Given the description of an element on the screen output the (x, y) to click on. 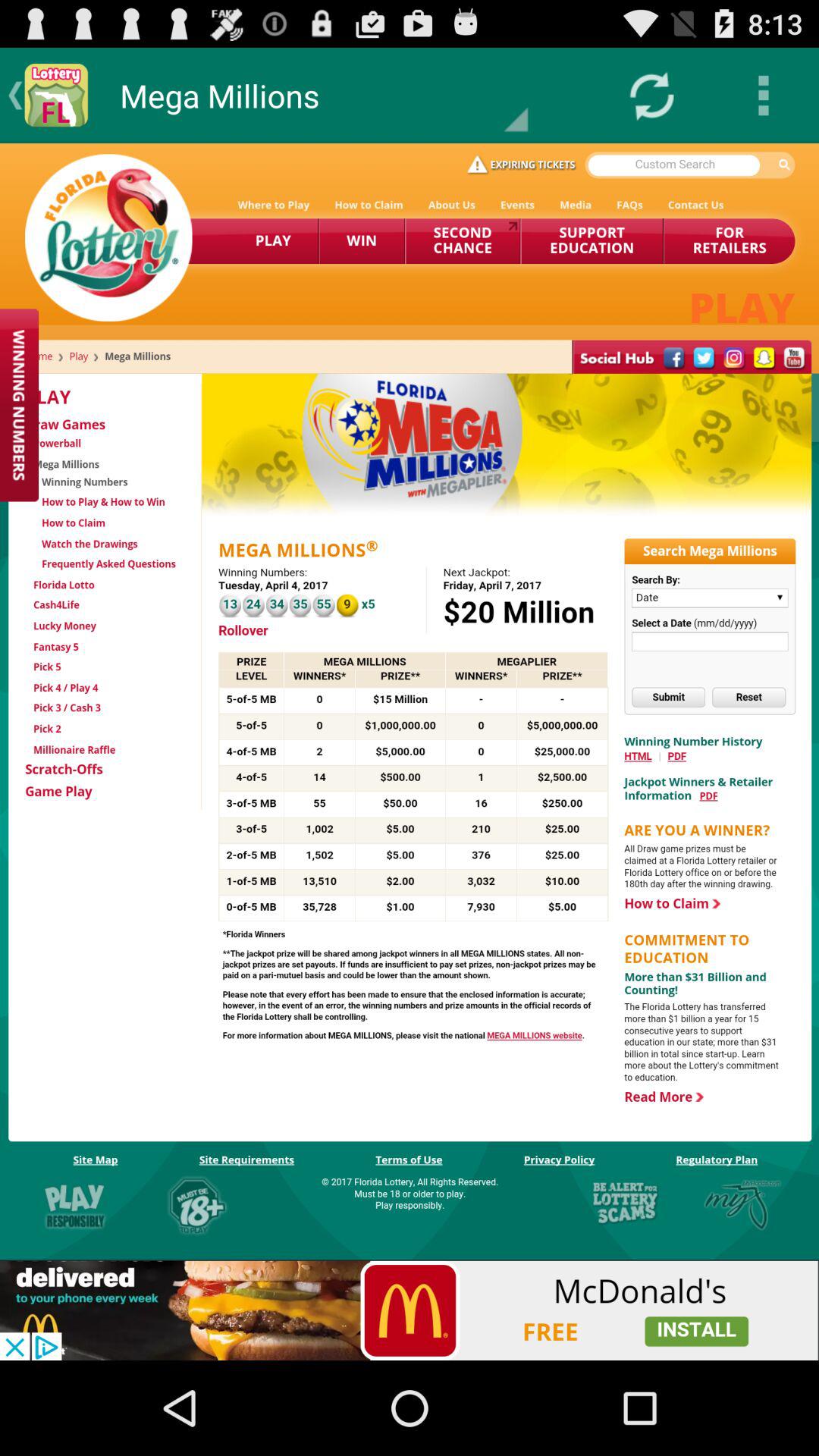
open advertisement (409, 1310)
